Given the description of an element on the screen output the (x, y) to click on. 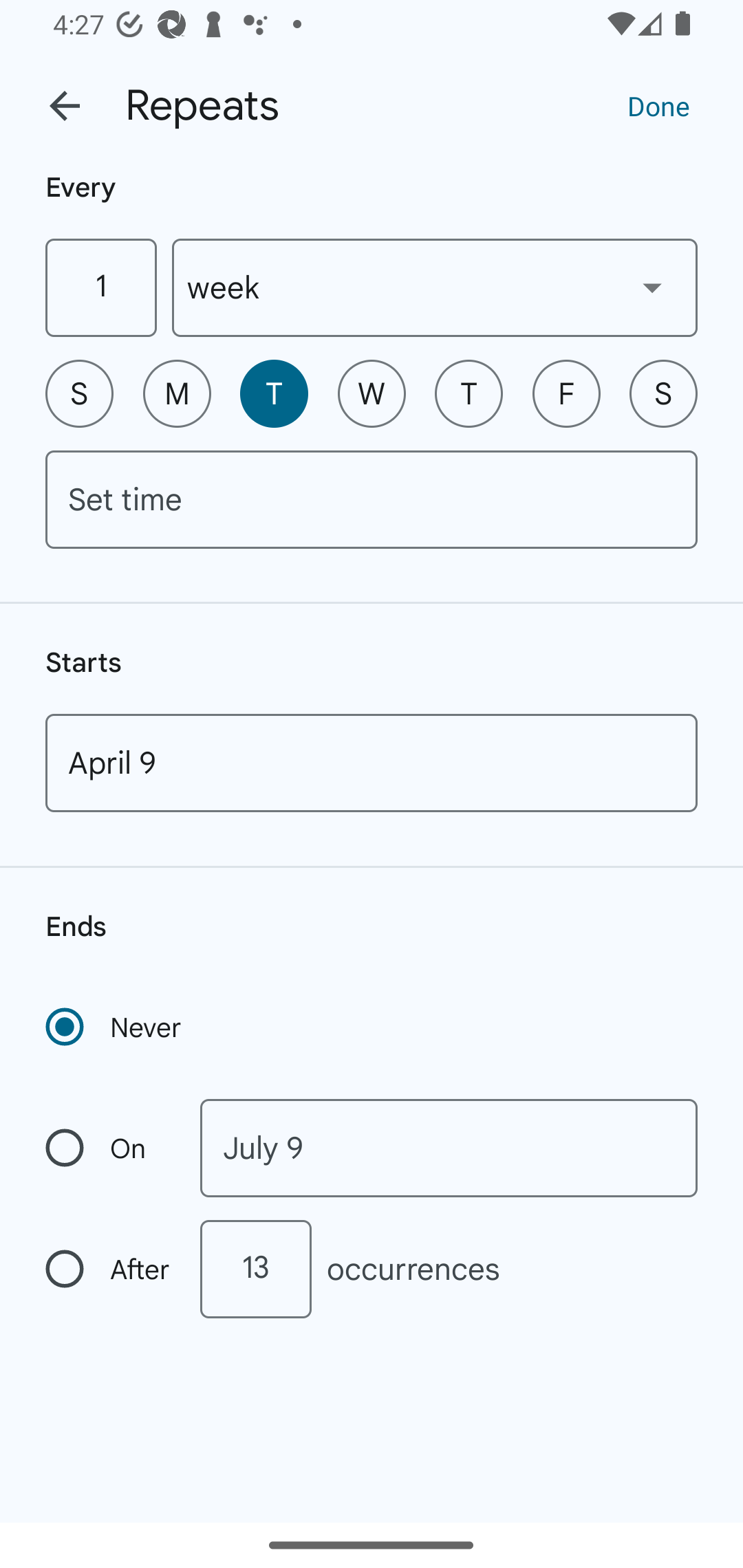
Back (64, 105)
Done (658, 105)
1 (100, 287)
week (434, 287)
Show dropdown menu (652, 286)
S Sunday (79, 393)
M Monday (177, 393)
T Tuesday, selected (273, 393)
W Wednesday (371, 393)
T Thursday (468, 393)
F Friday (566, 393)
S Saturday (663, 393)
Set time (371, 499)
April 9 (371, 762)
Never Recurrence never ends (115, 1026)
July 9 (448, 1148)
On Recurrence ends on a specific date (109, 1148)
13 (255, 1268)
